Given the description of an element on the screen output the (x, y) to click on. 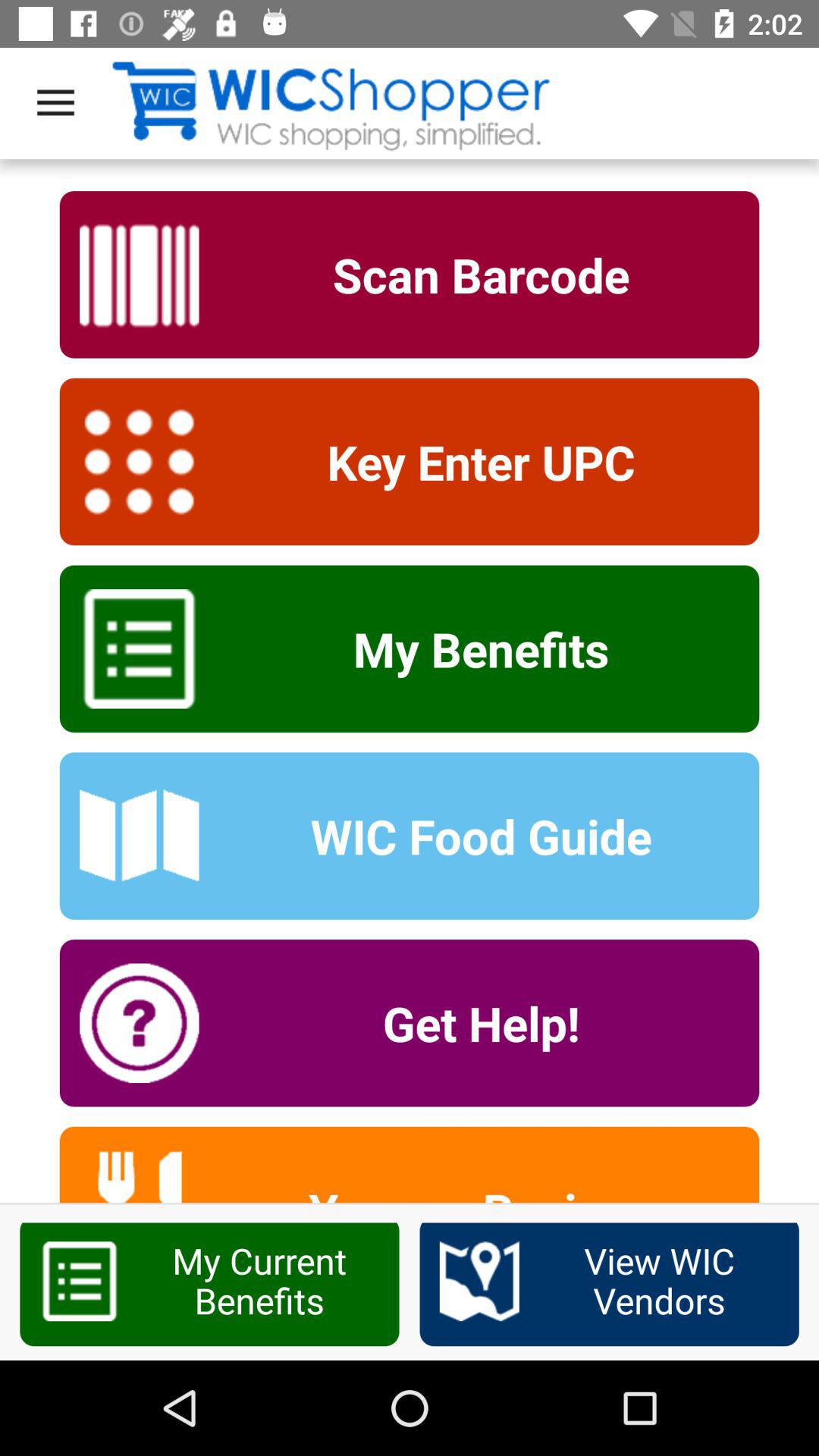
turn on yummy recipes item (471, 1190)
